Given the description of an element on the screen output the (x, y) to click on. 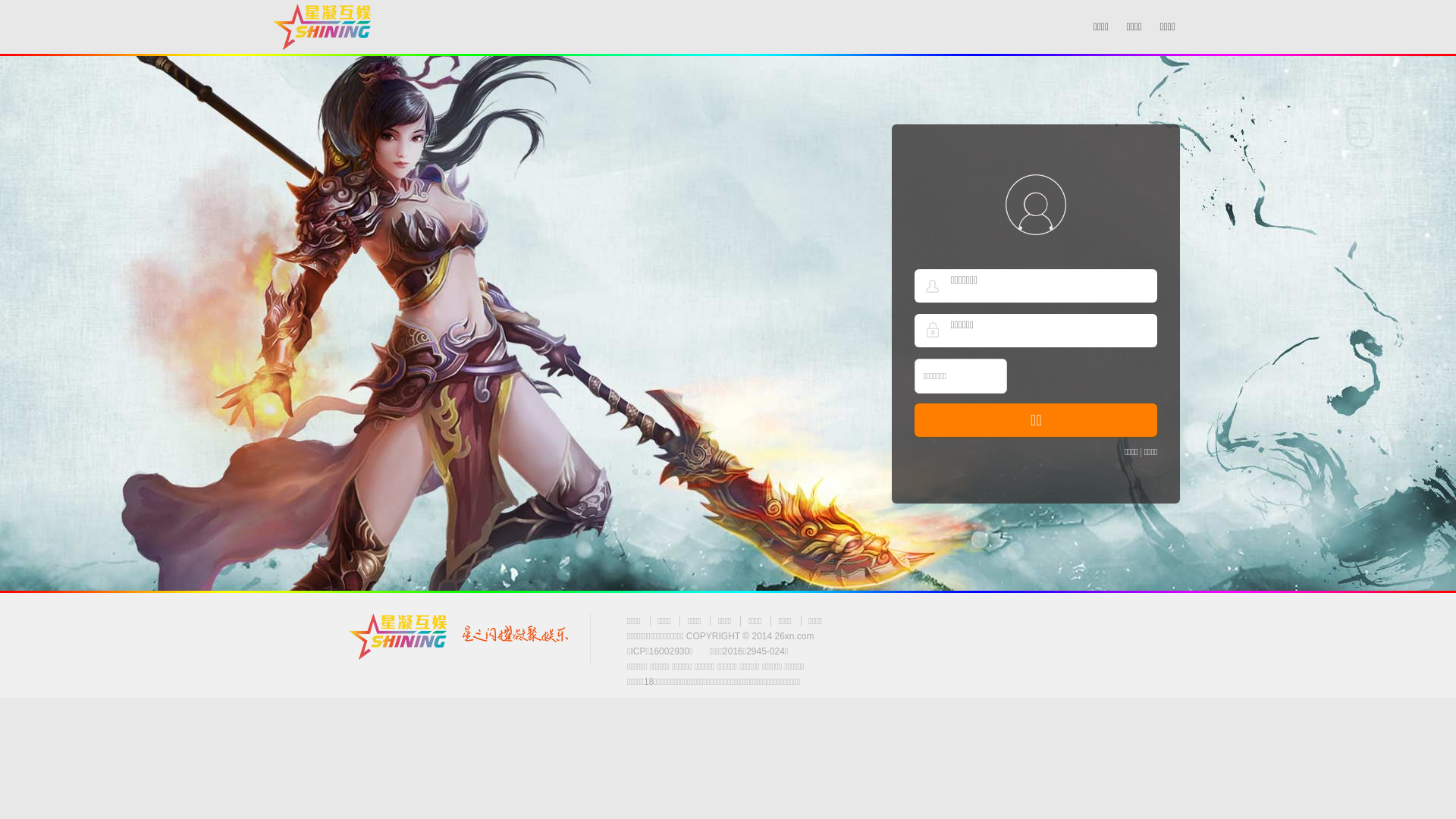
26xn.com Element type: text (794, 635)
